Given the description of an element on the screen output the (x, y) to click on. 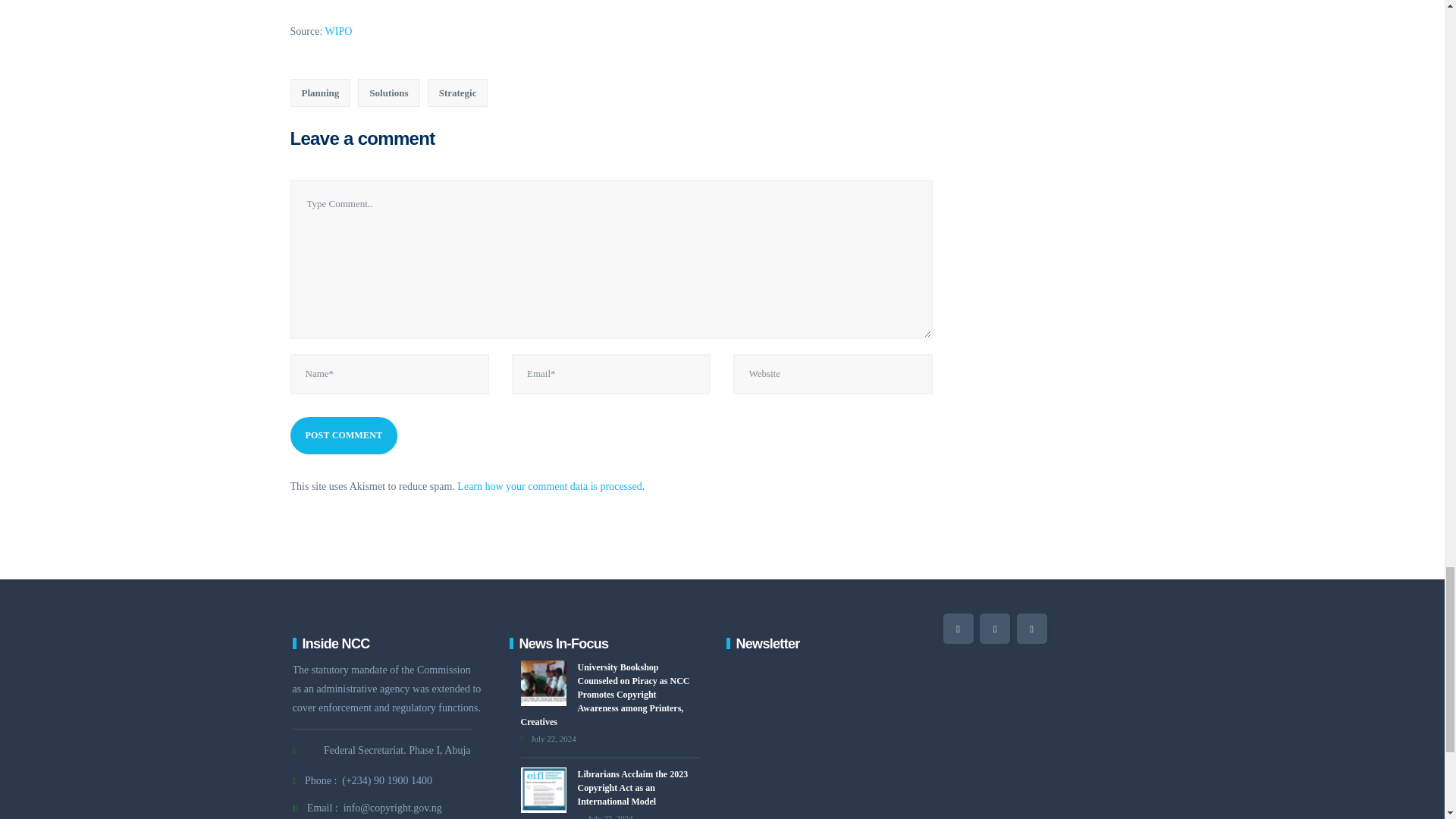
Follow Us on Instagram (1031, 628)
Follow Us on Twitter (958, 628)
Follow Us on Facebook (994, 628)
Post Comment (343, 435)
